Given the description of an element on the screen output the (x, y) to click on. 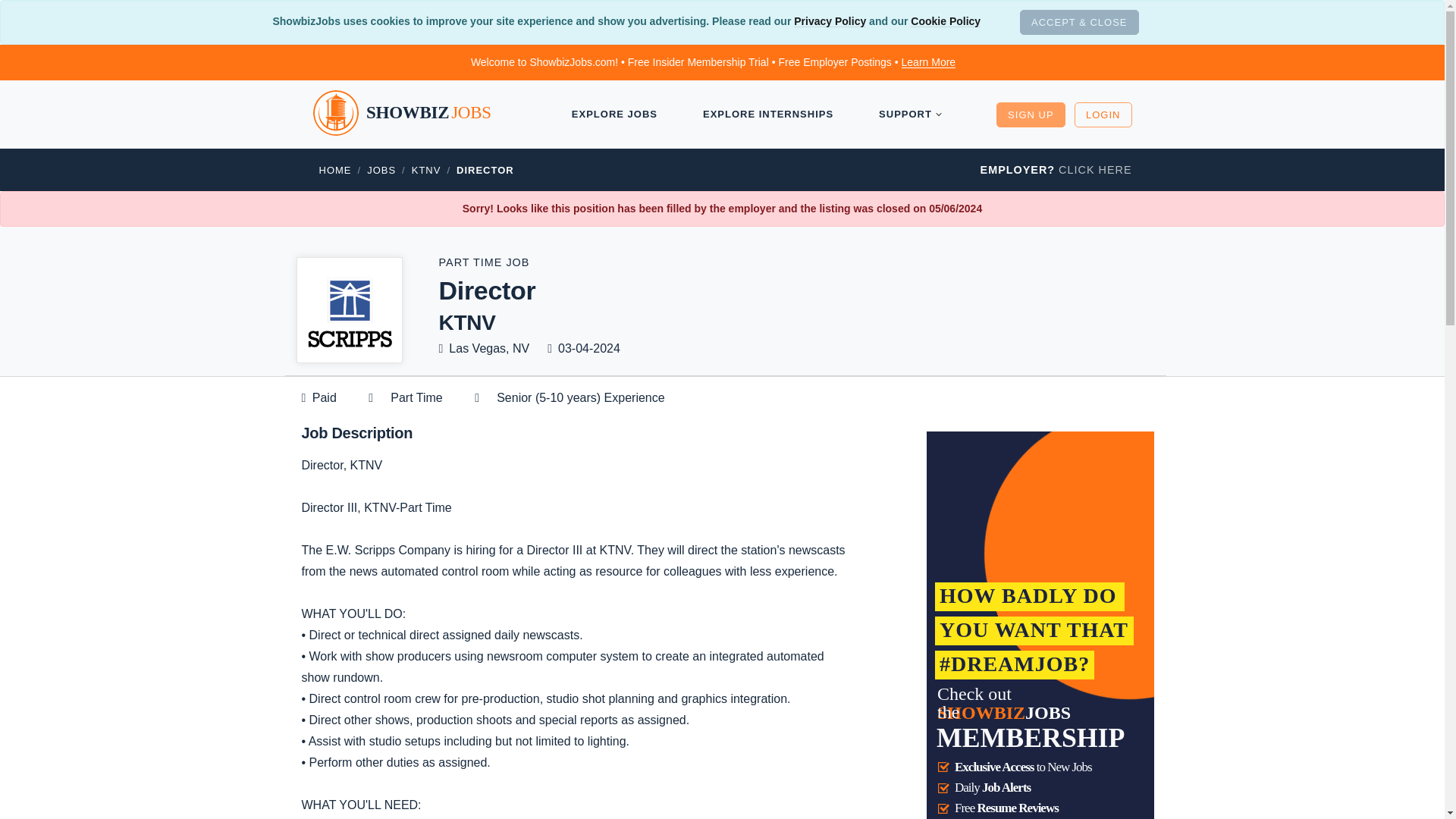
SIGN UP (1029, 113)
EXPLORE INTERNSHIPS (767, 114)
LOGIN (1102, 113)
SHOWBIZJOBS (414, 113)
Privacy Policy (829, 21)
DIRECTOR (485, 170)
KTNV (426, 170)
Cookie Policy (945, 21)
EXPLORE JOBS (614, 114)
EMPLOYER? CLICK HERE (1055, 169)
JOBS (381, 170)
HOME (334, 170)
SUPPORT (902, 114)
